Given the description of an element on the screen output the (x, y) to click on. 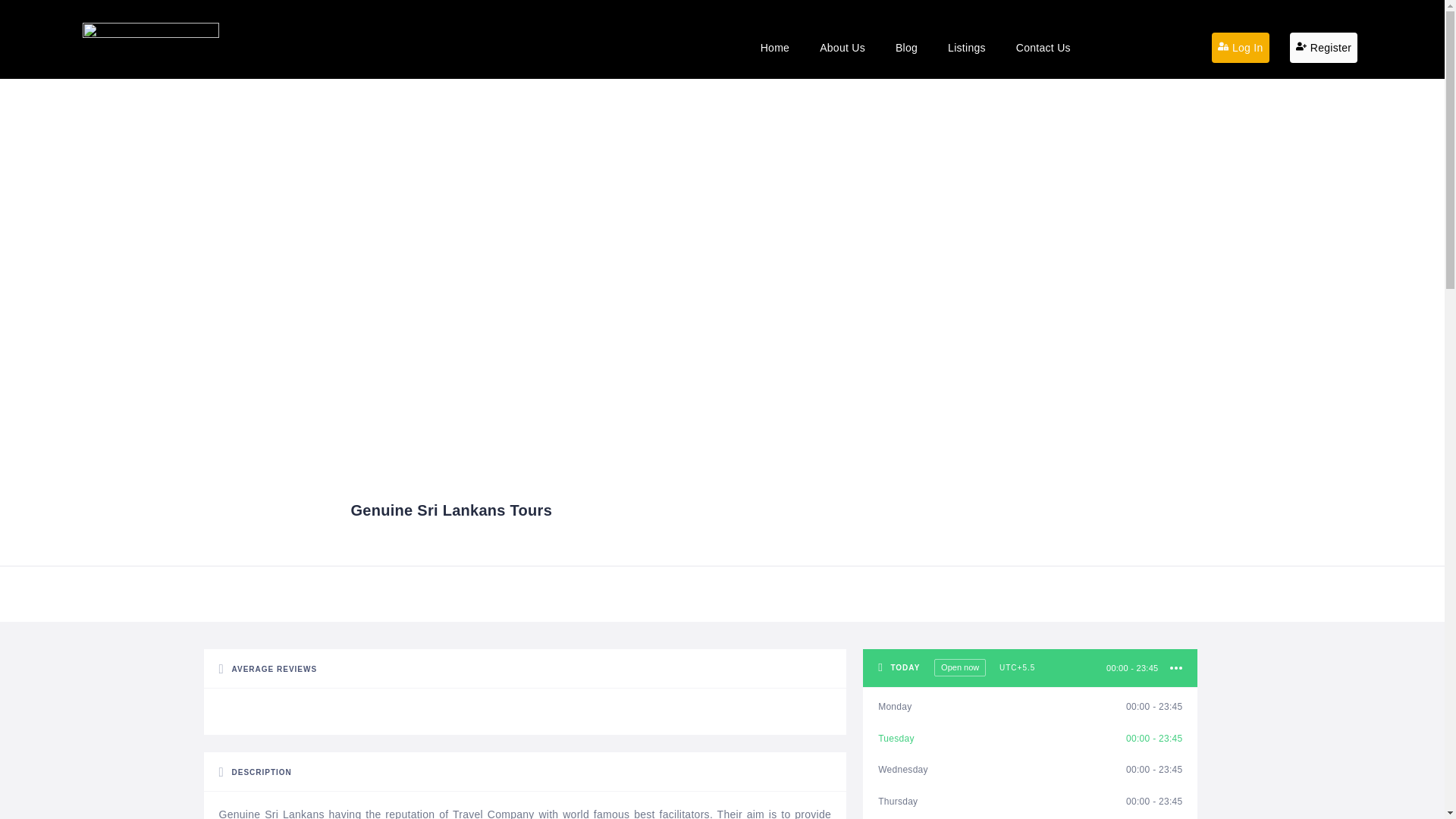
Contact Us (1043, 47)
Log In (1240, 47)
About Us (842, 47)
Listings (967, 47)
Home (775, 47)
Register (1323, 47)
Blog (906, 47)
